Given the description of an element on the screen output the (x, y) to click on. 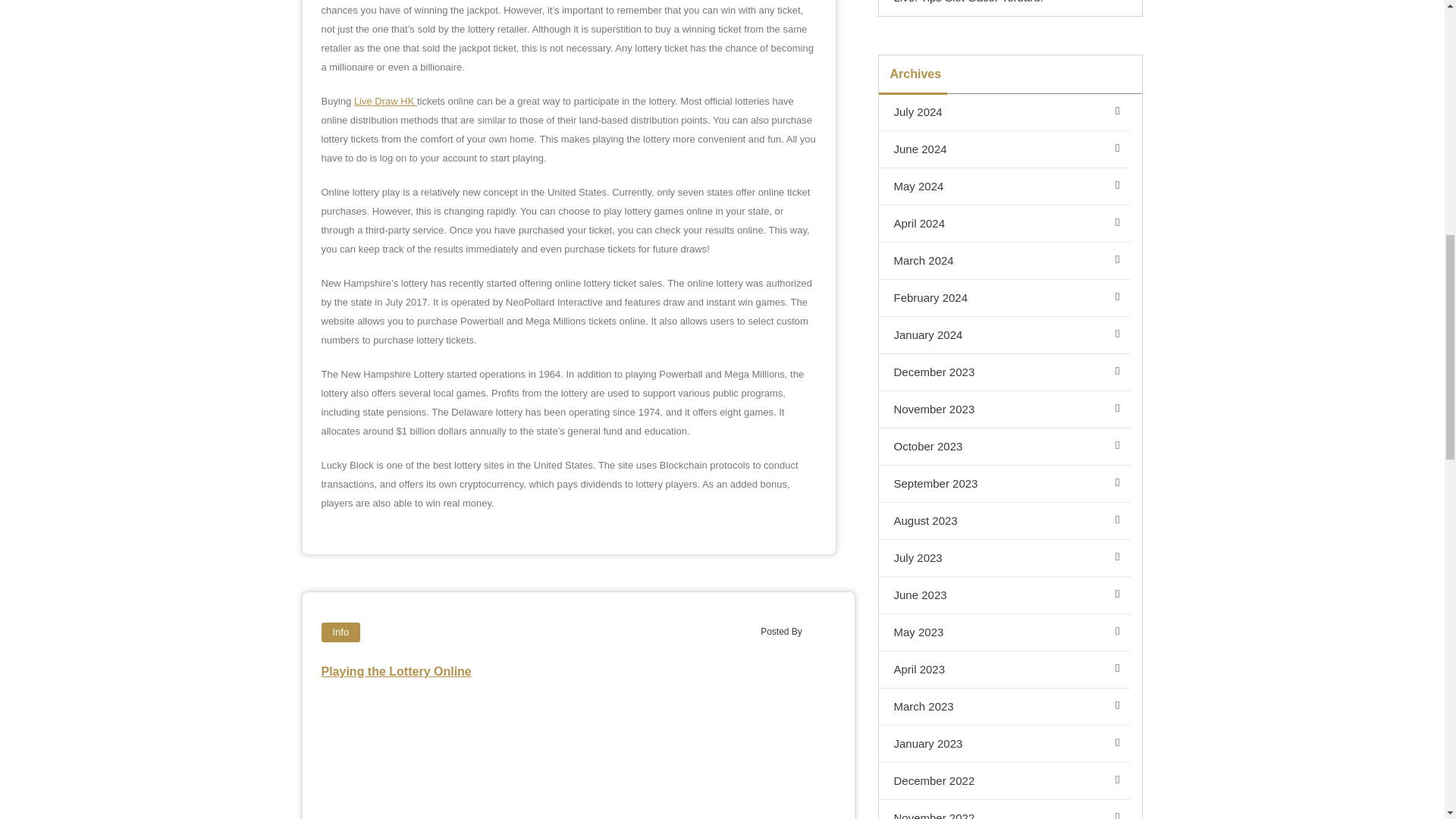
Live Draw HK (384, 101)
April 2024 (1004, 223)
June 2023 (1004, 595)
August 2023 (1004, 520)
June 2024 (1004, 149)
January 2024 (1004, 334)
November 2023 (1004, 409)
July 2024 (1004, 112)
Info (341, 632)
February 2024 (1004, 298)
March 2024 (1004, 261)
October 2023 (1004, 447)
September 2023 (1004, 484)
May 2024 (1004, 186)
May 2023 (1004, 632)
